Given the description of an element on the screen output the (x, y) to click on. 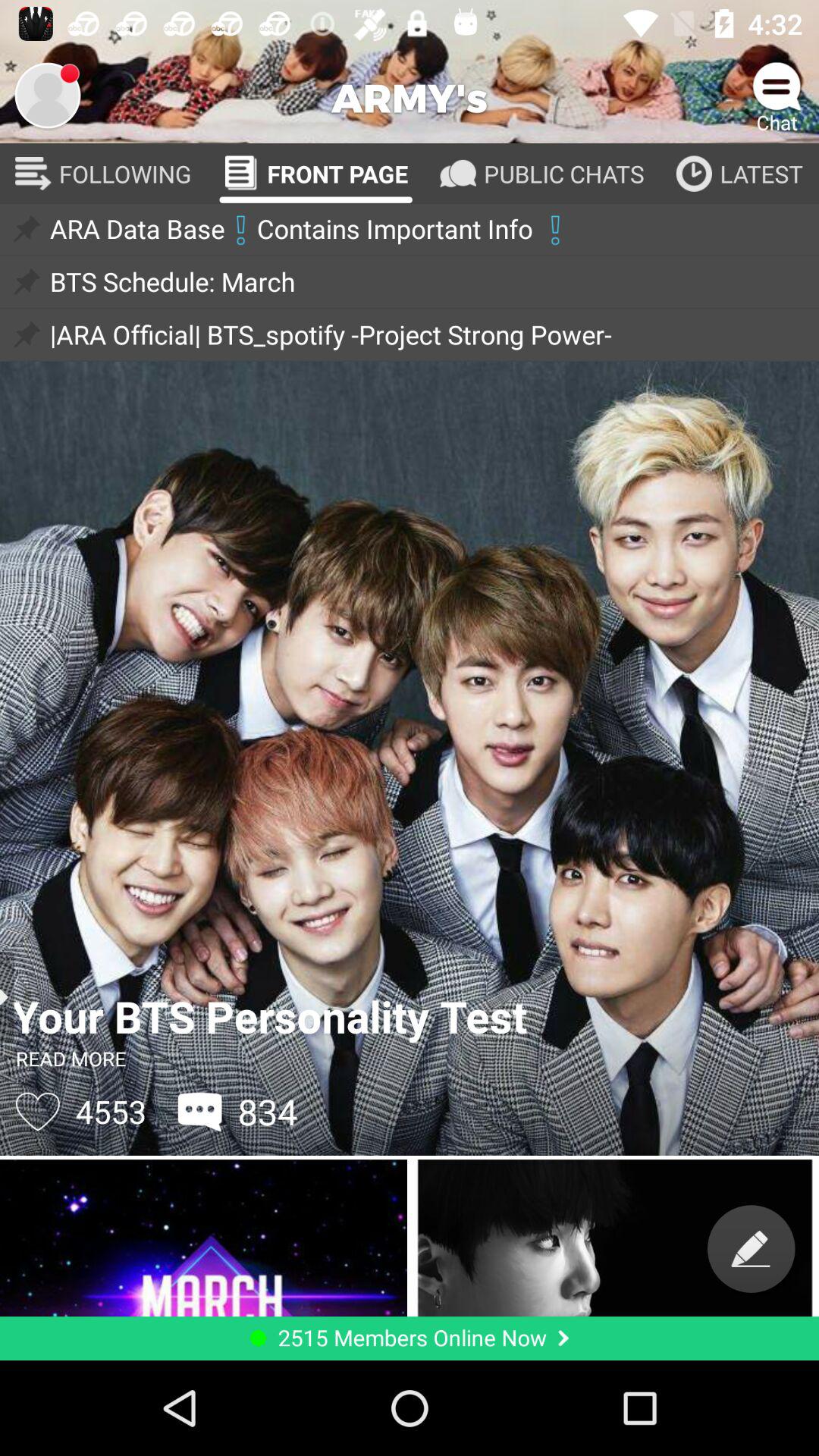
my profile page (47, 95)
